Given the description of an element on the screen output the (x, y) to click on. 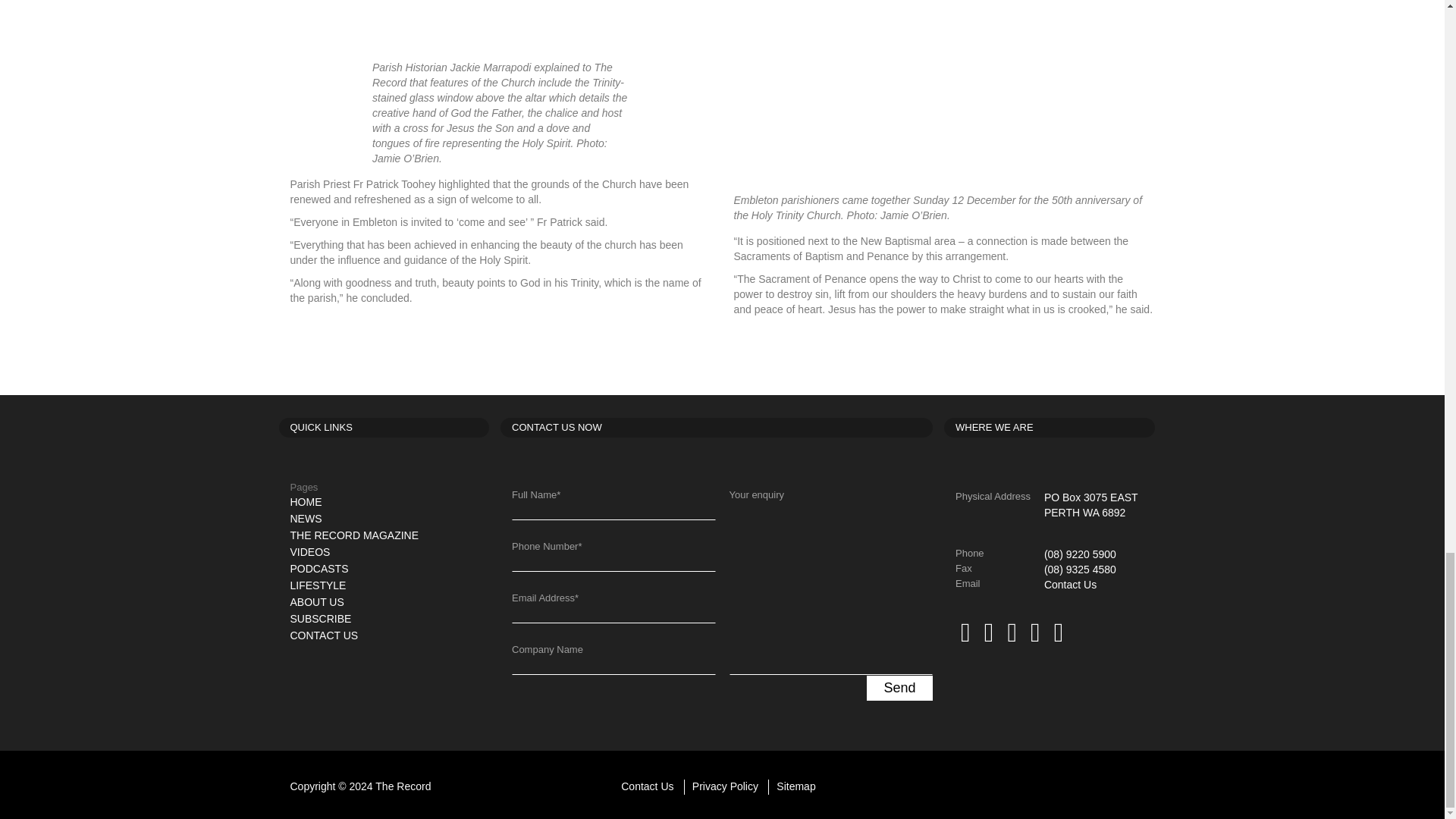
Send (899, 688)
